Given the description of an element on the screen output the (x, y) to click on. 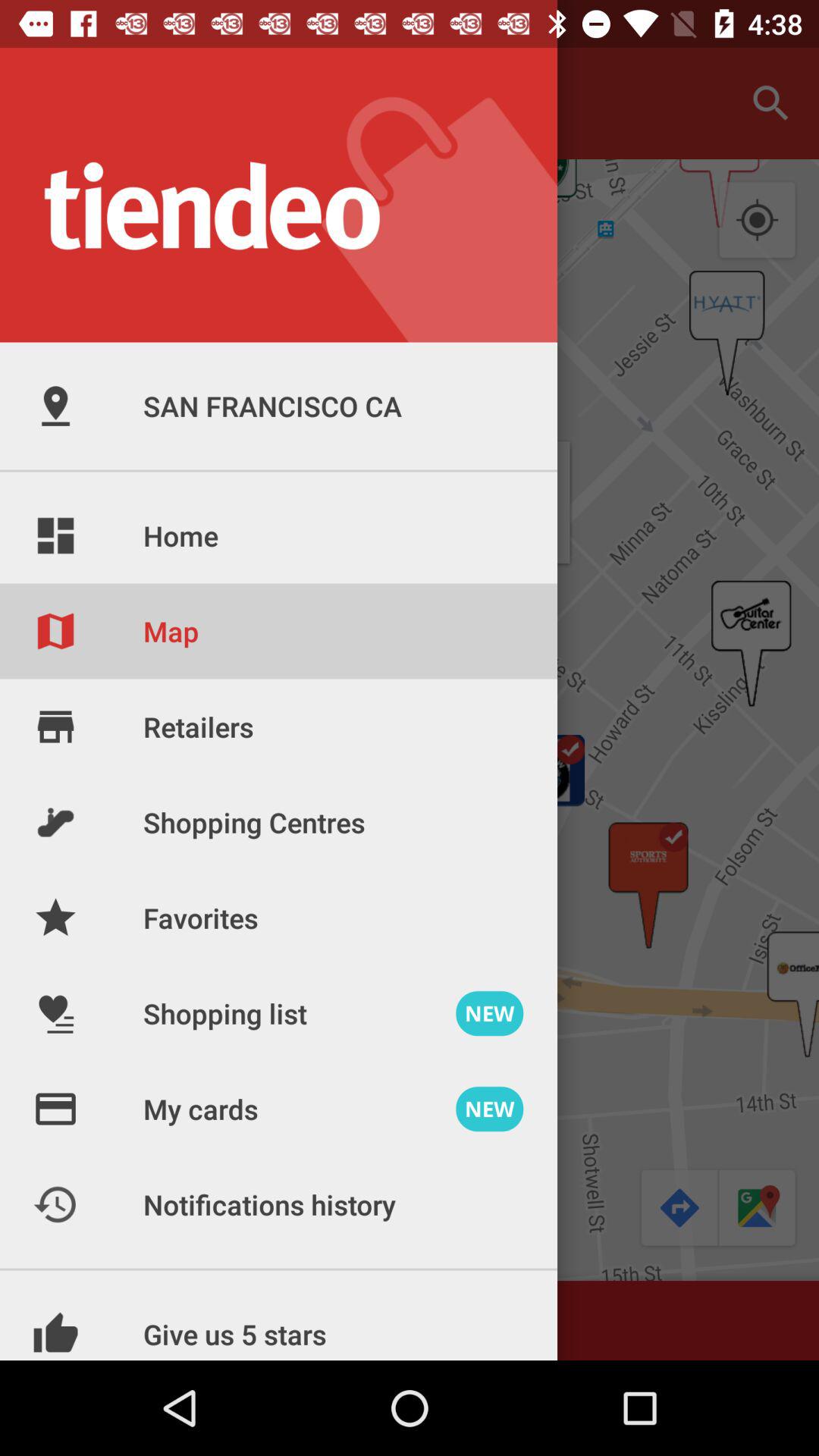
click on second new option (489, 1109)
